Given the description of an element on the screen output the (x, y) to click on. 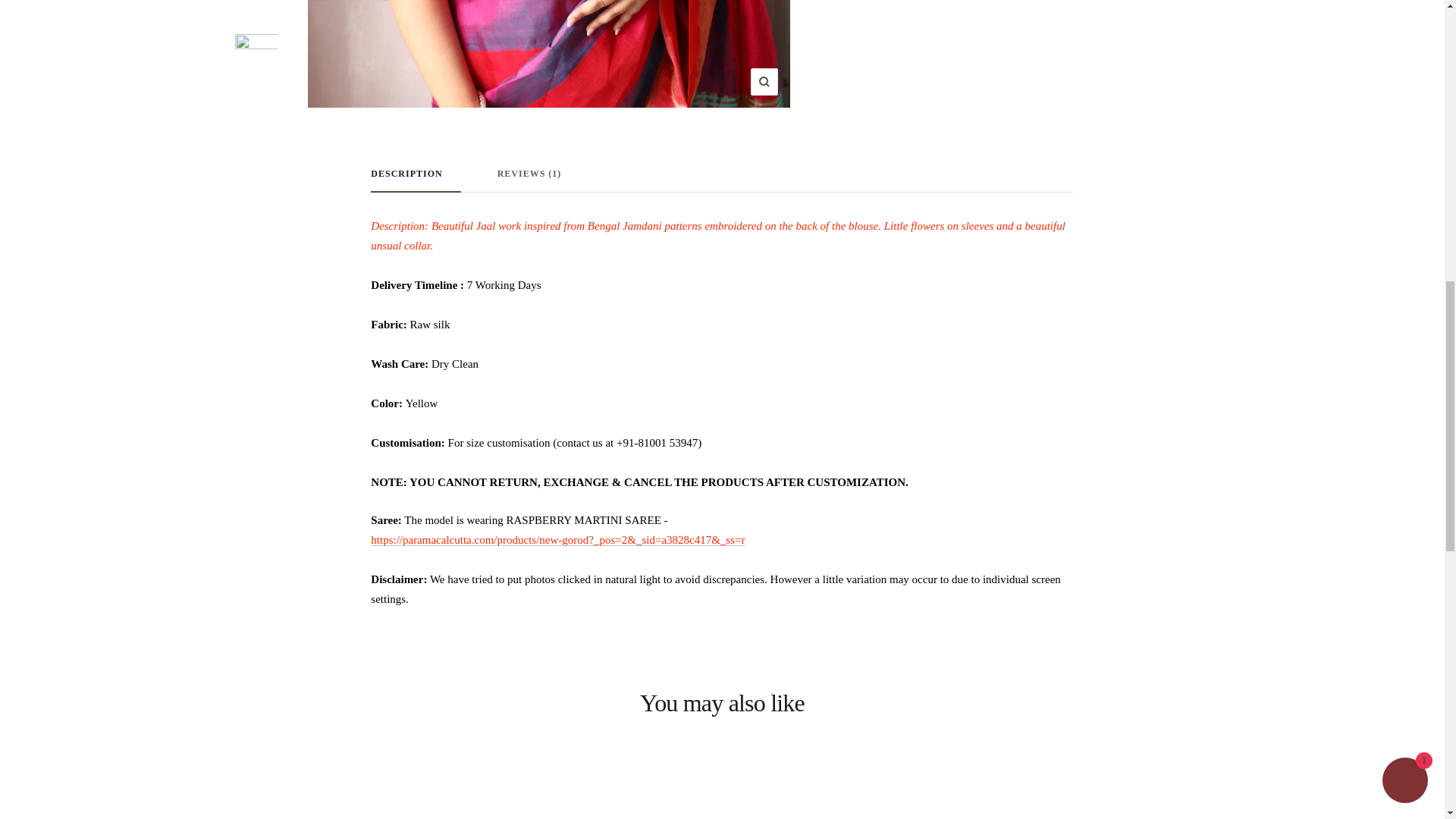
BN (982, 66)
VG (982, 42)
BF (982, 116)
IO (982, 17)
BI (982, 141)
BG (982, 91)
